Given the description of an element on the screen output the (x, y) to click on. 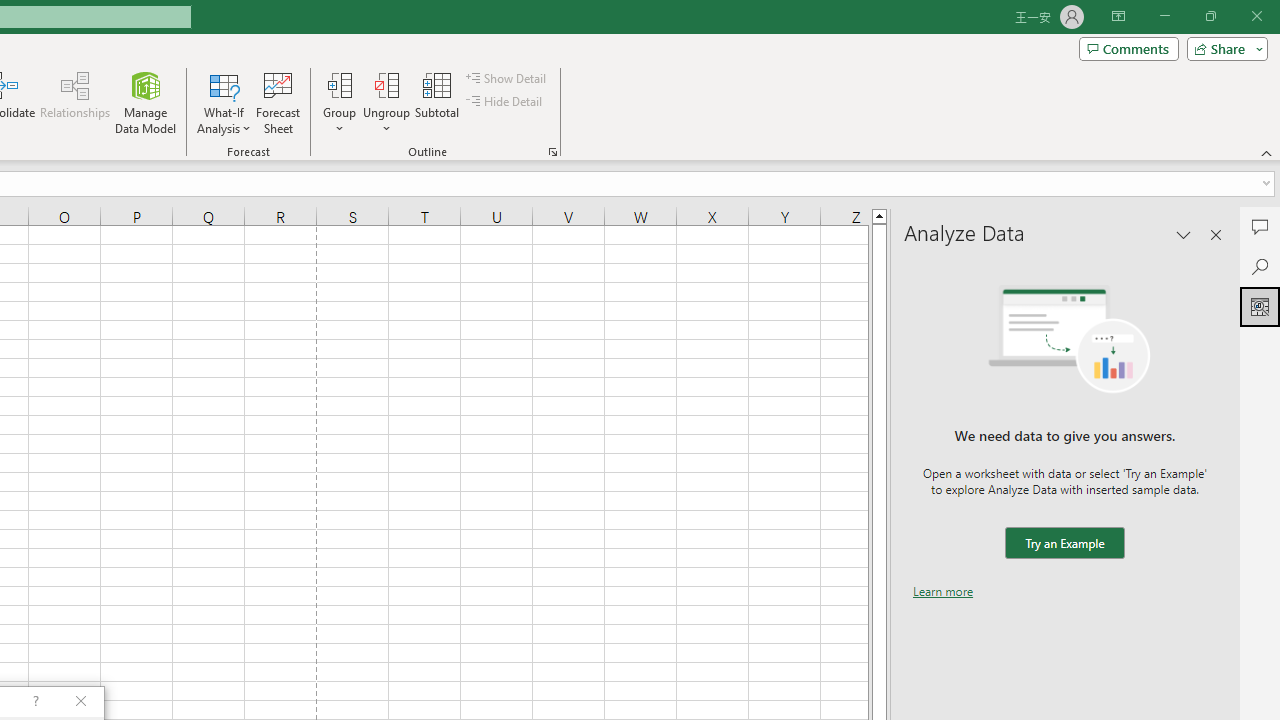
Close (1256, 16)
Subtotal (437, 102)
Collapse the Ribbon (1267, 152)
Ungroup... (386, 84)
Comments (1260, 226)
Analyze Data (1260, 306)
Search (1260, 266)
Group... (339, 84)
Comments (1128, 48)
We need data to give you answers. Try an Example (1064, 543)
Task Pane Options (1183, 234)
Minimize (1164, 16)
Ribbon Display Options (1118, 16)
Show Detail (507, 78)
